Given the description of an element on the screen output the (x, y) to click on. 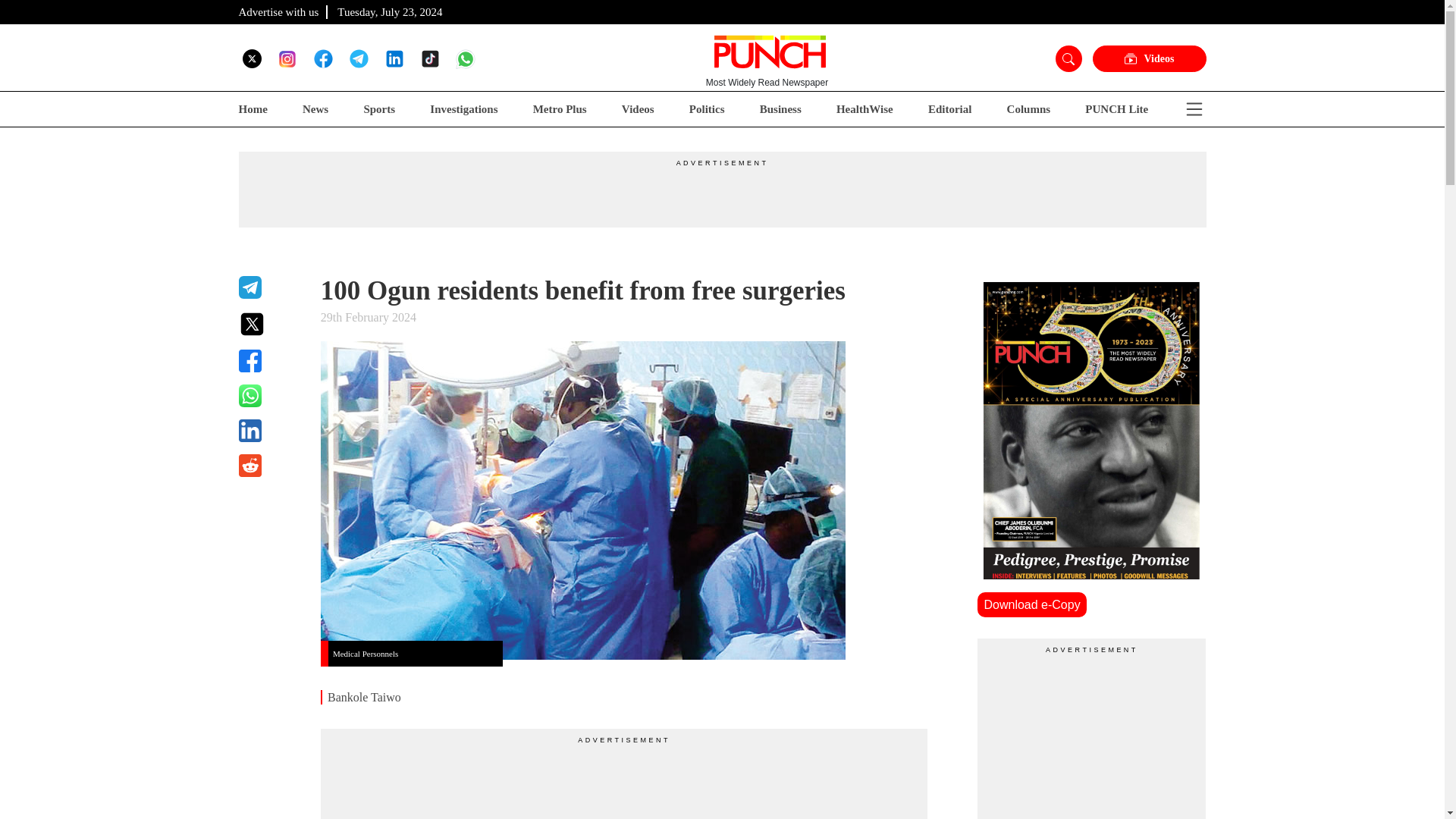
Follow Our Channel on Telegram (358, 58)
Home (252, 109)
Share on Telegram (269, 287)
Follow Us on Facebook (323, 58)
Investigations (463, 109)
Advertise with us (278, 11)
Politics (706, 109)
Editorial (950, 109)
Business (781, 109)
PUNCH Lite (1116, 109)
Follow Us on Instagram (287, 58)
News (315, 109)
Share on Twitter (269, 324)
Follow Us on X (252, 58)
HealthWise (864, 109)
